Given the description of an element on the screen output the (x, y) to click on. 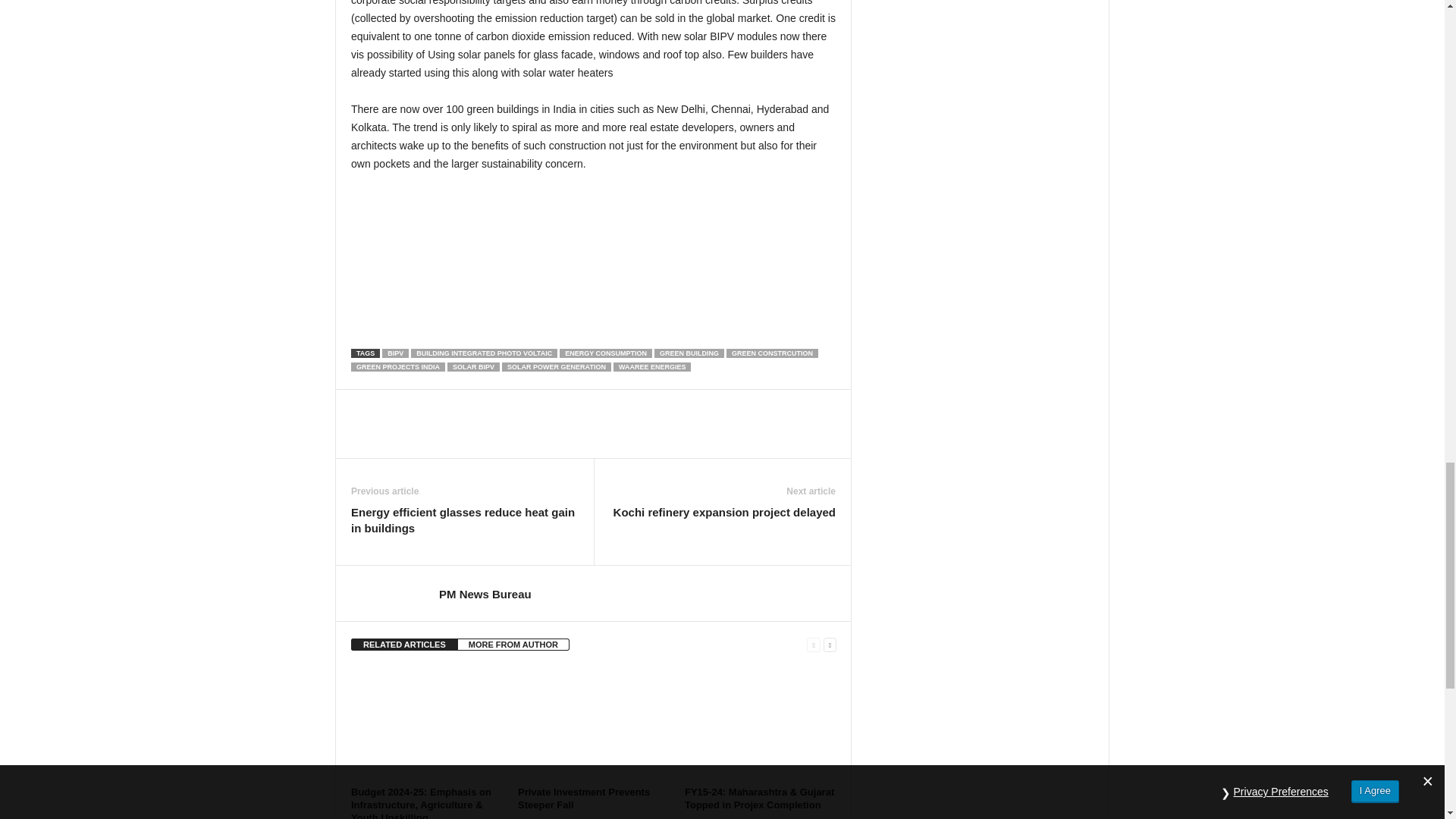
Private Investment Prevents Steeper Fall (593, 724)
Print page (592, 224)
PDF page (592, 270)
Email page (592, 317)
